Given the description of an element on the screen output the (x, y) to click on. 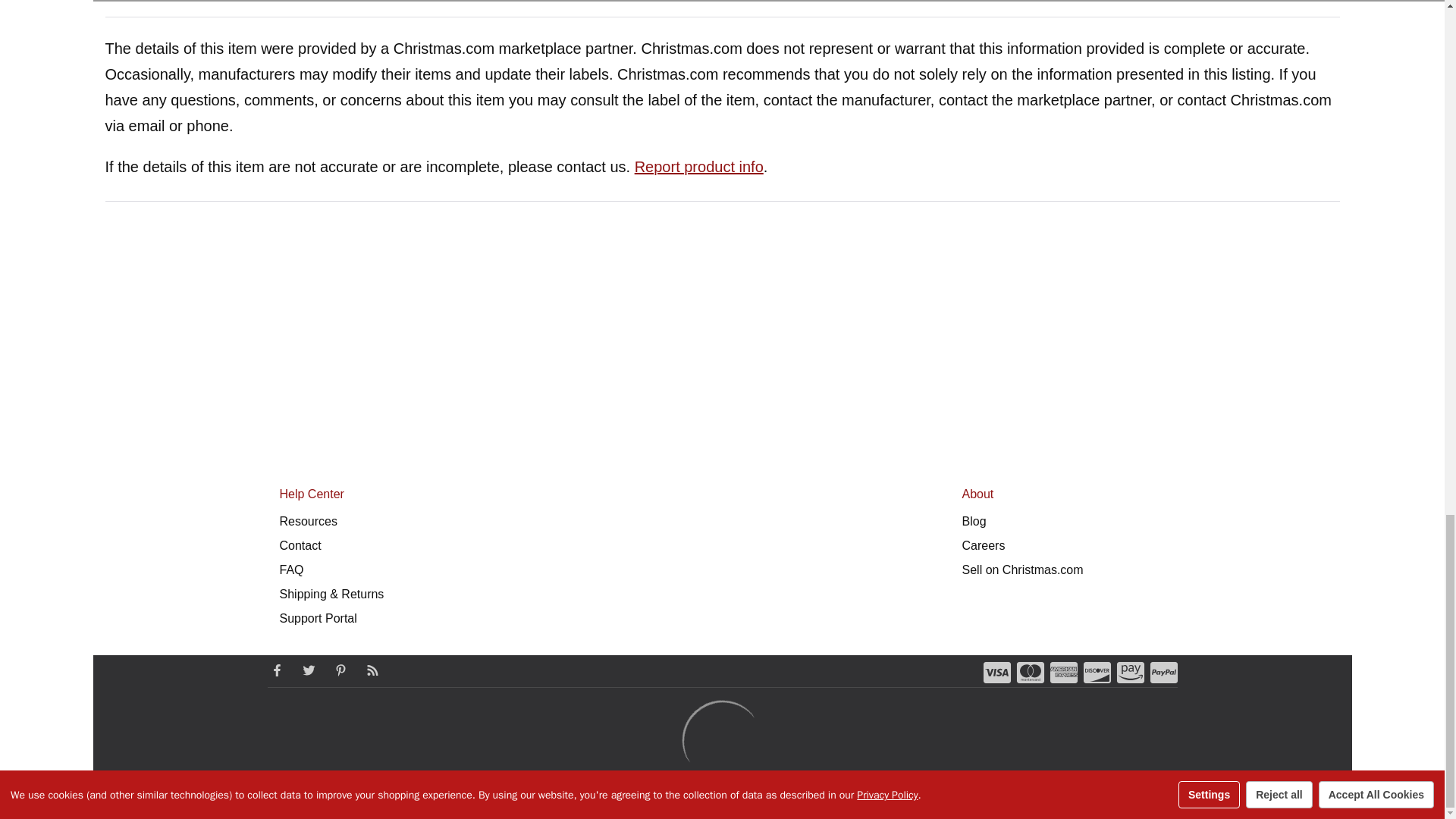
Visa (996, 672)
Amazon Pay (1129, 672)
Discover (1096, 672)
MasterCard (1029, 672)
MasterCard (1029, 672)
PayPal (1163, 672)
American Express (1063, 672)
Amazon Pay (1129, 672)
American Express (1063, 672)
Visa (996, 672)
